Given the description of an element on the screen output the (x, y) to click on. 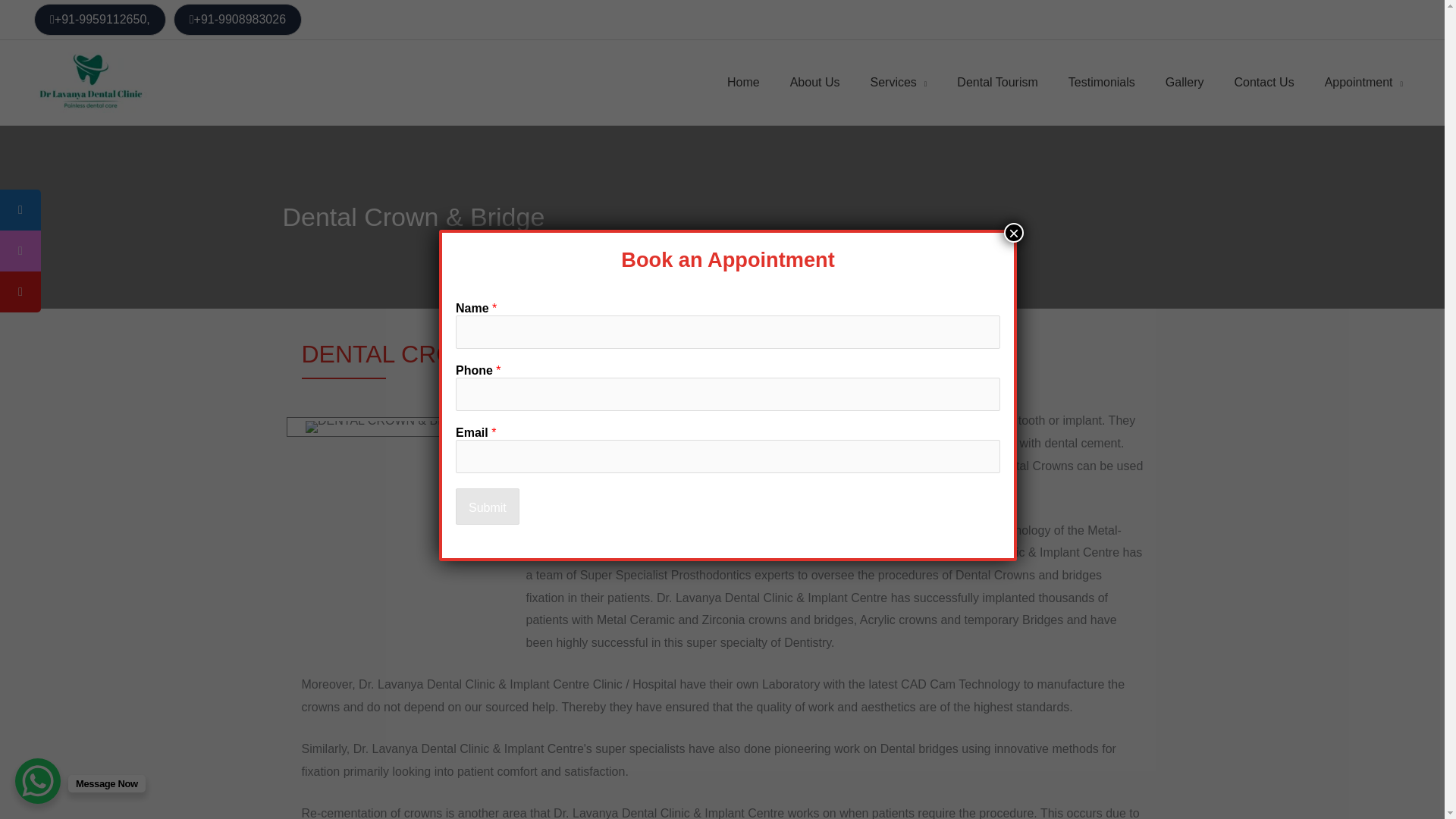
Home (742, 82)
Testimonials (1101, 82)
Appointment (1363, 82)
Services (898, 82)
Dental Tourism (997, 82)
About Us (815, 82)
Contact Us (1264, 82)
Gallery (1185, 82)
